Given the description of an element on the screen output the (x, y) to click on. 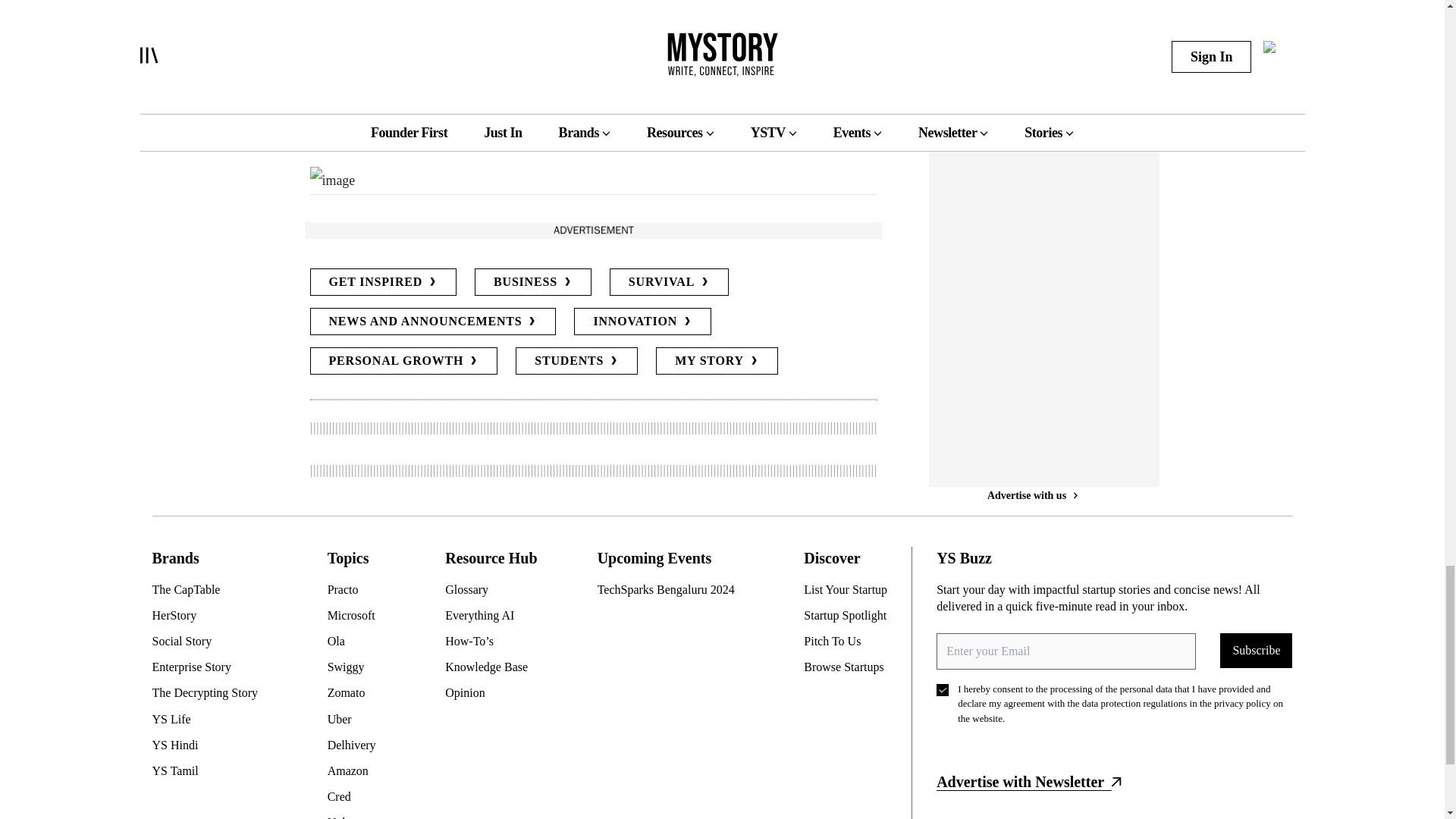
BUSINESS (532, 281)
INNOVATION (642, 320)
Advertise with us (592, 229)
PERSONAL GROWTH (402, 360)
STUDENTS (576, 360)
SURVIVAL (669, 281)
MY STORY (716, 360)
GET INSPIRED (382, 281)
NEWS AND ANNOUNCEMENTS (432, 320)
